Given the description of an element on the screen output the (x, y) to click on. 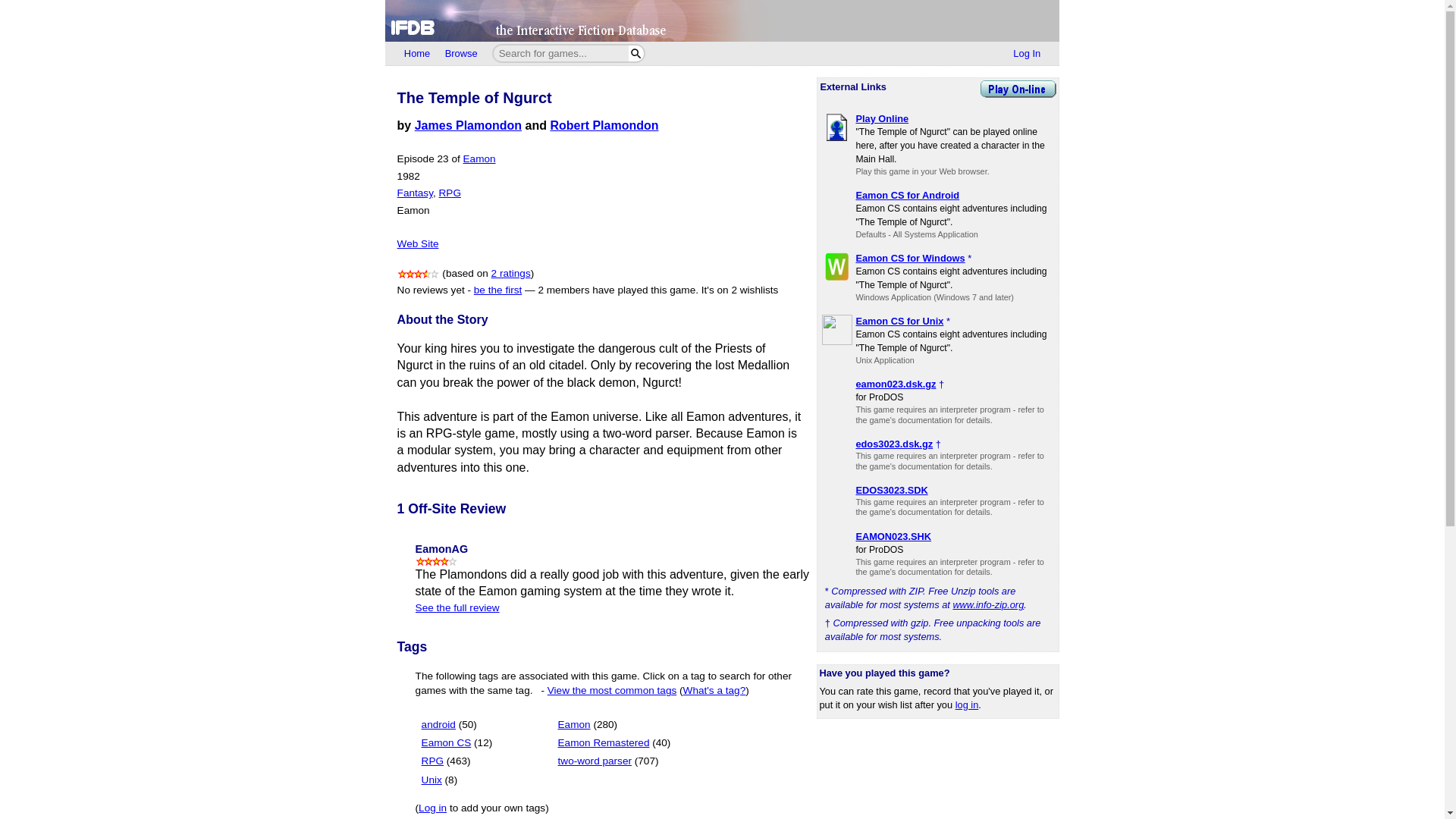
Eamon CS (446, 742)
40 games have this tag (660, 742)
4 Stars (436, 561)
Play Online (882, 118)
Search for games tagged with android (449, 724)
Home (417, 53)
log in (966, 704)
2 ratings (511, 273)
See the full review (456, 607)
12 games have this tag (483, 742)
8 games have this tag (451, 779)
Eamon CS for Android (907, 194)
Fantasy (414, 193)
EDOS3023.SDK (891, 490)
View all ratings and reviews for this game (511, 273)
